Given the description of an element on the screen output the (x, y) to click on. 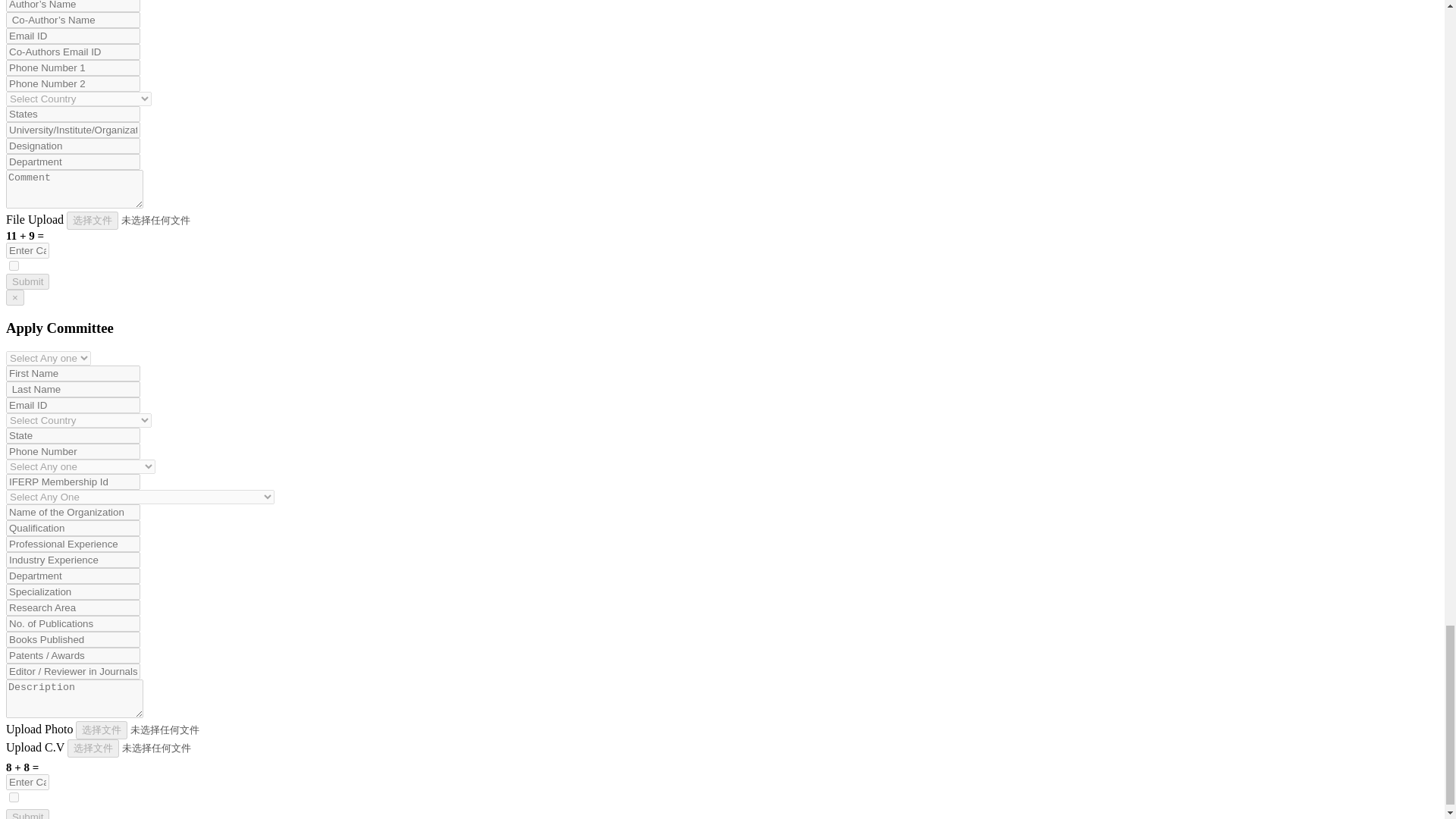
Last name should only containe lowercase letter e.g. Stephen (72, 389)
First name should only contain lowercase letter e.g. John (72, 373)
Submit (27, 281)
Author name should only contain lowercase letter e.g. John (72, 6)
